Given the description of an element on the screen output the (x, y) to click on. 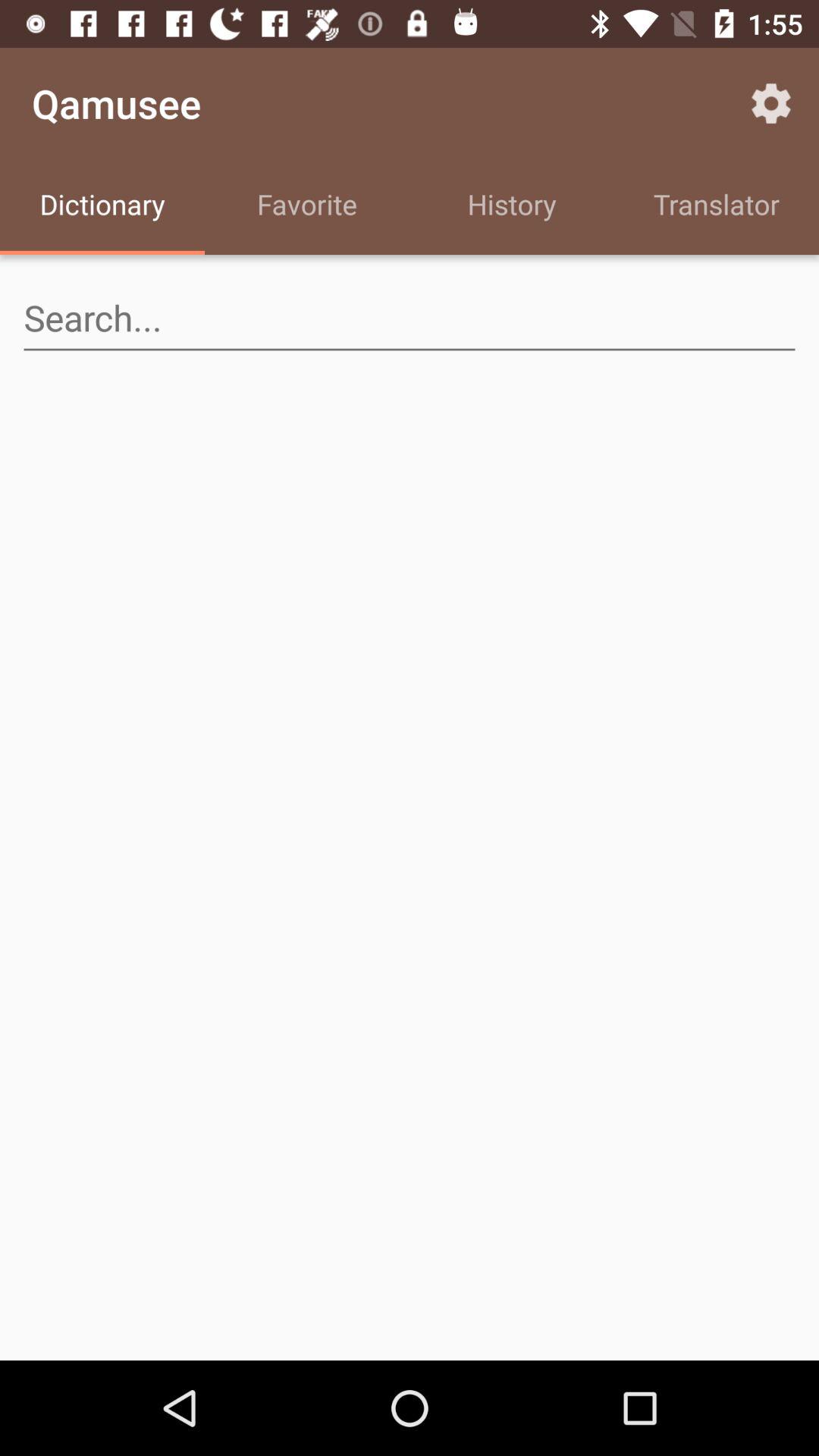
launch the item below the qamusee icon (306, 206)
